Given the description of an element on the screen output the (x, y) to click on. 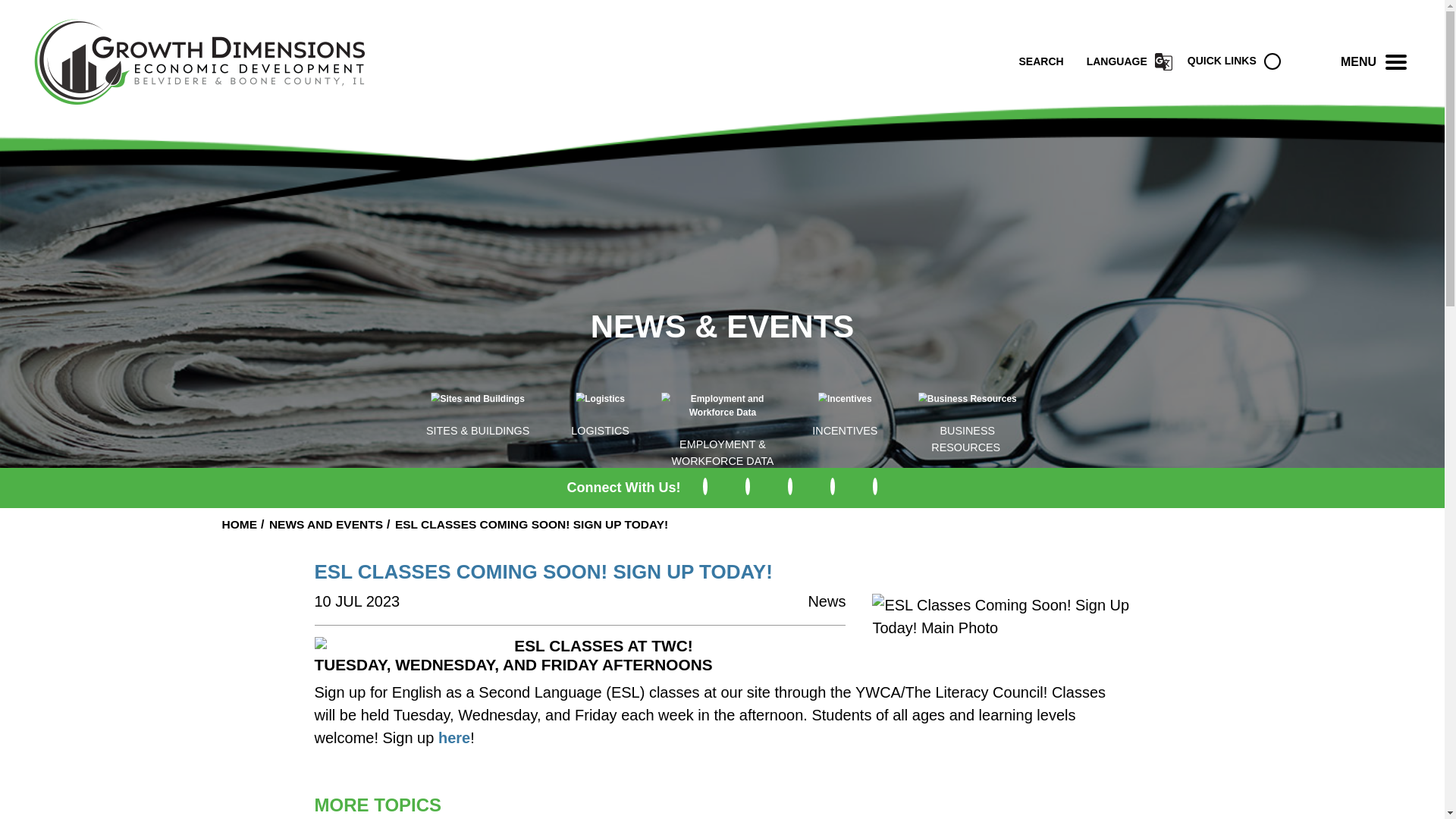
Tiktok (874, 486)
Instagram (789, 486)
TOGGLE NAVIGATION (1395, 60)
Linkedin (831, 486)
Facebook (747, 486)
Twitter (705, 486)
